Given the description of an element on the screen output the (x, y) to click on. 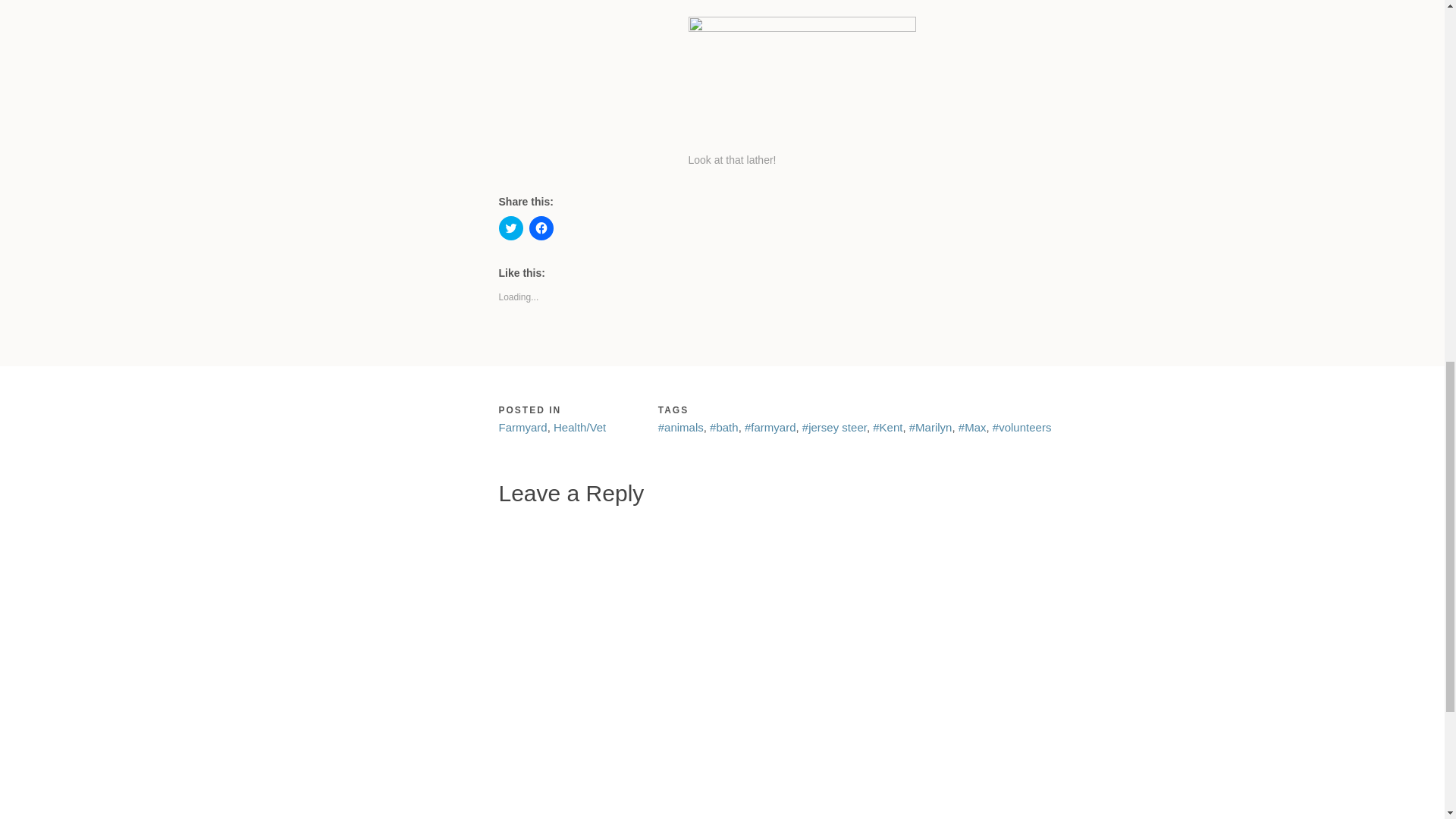
Click to share on Twitter (510, 228)
Click to share on Facebook (541, 228)
Farmyard (523, 427)
